Given the description of an element on the screen output the (x, y) to click on. 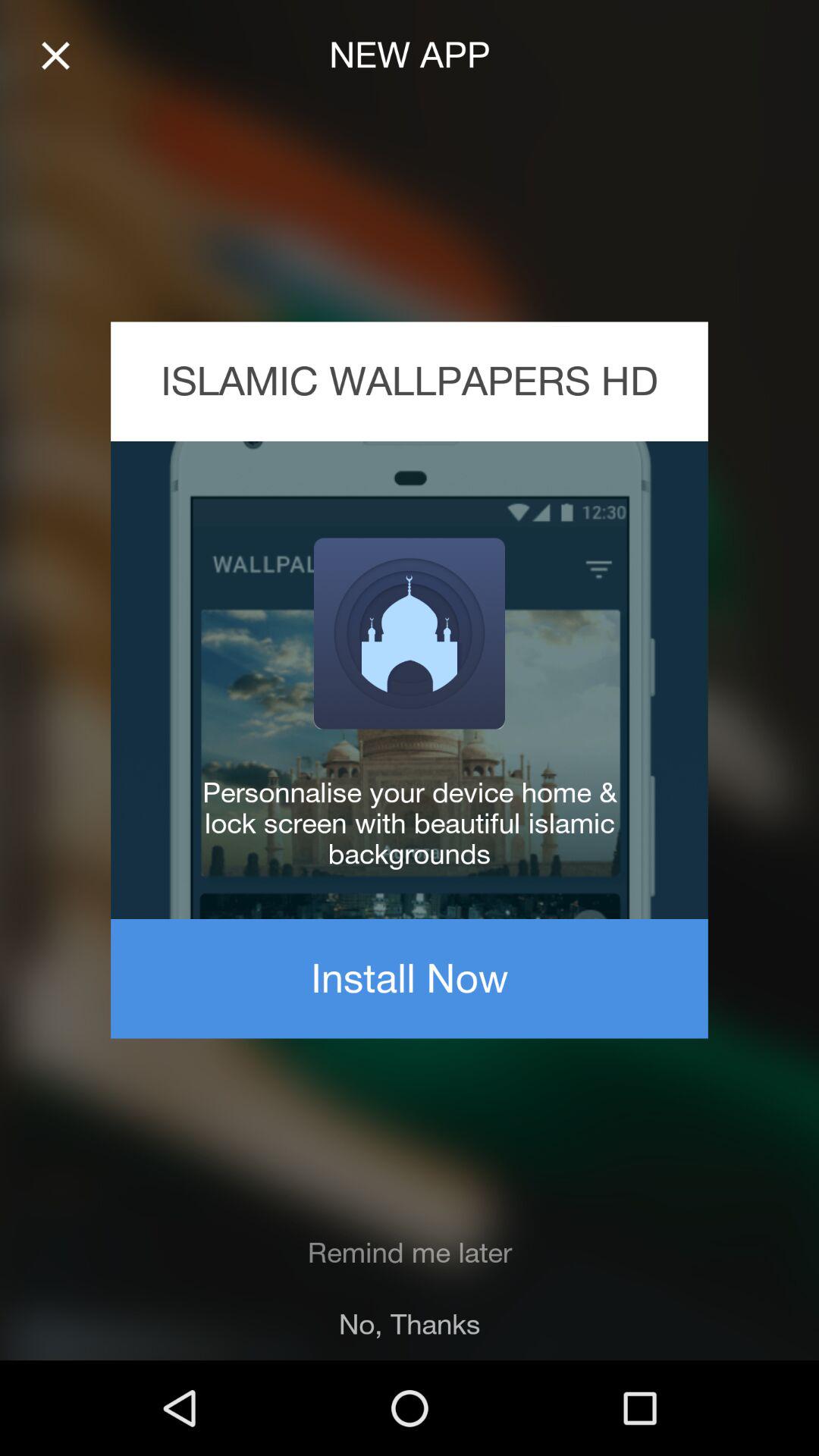
press icon at the top left corner (55, 55)
